Given the description of an element on the screen output the (x, y) to click on. 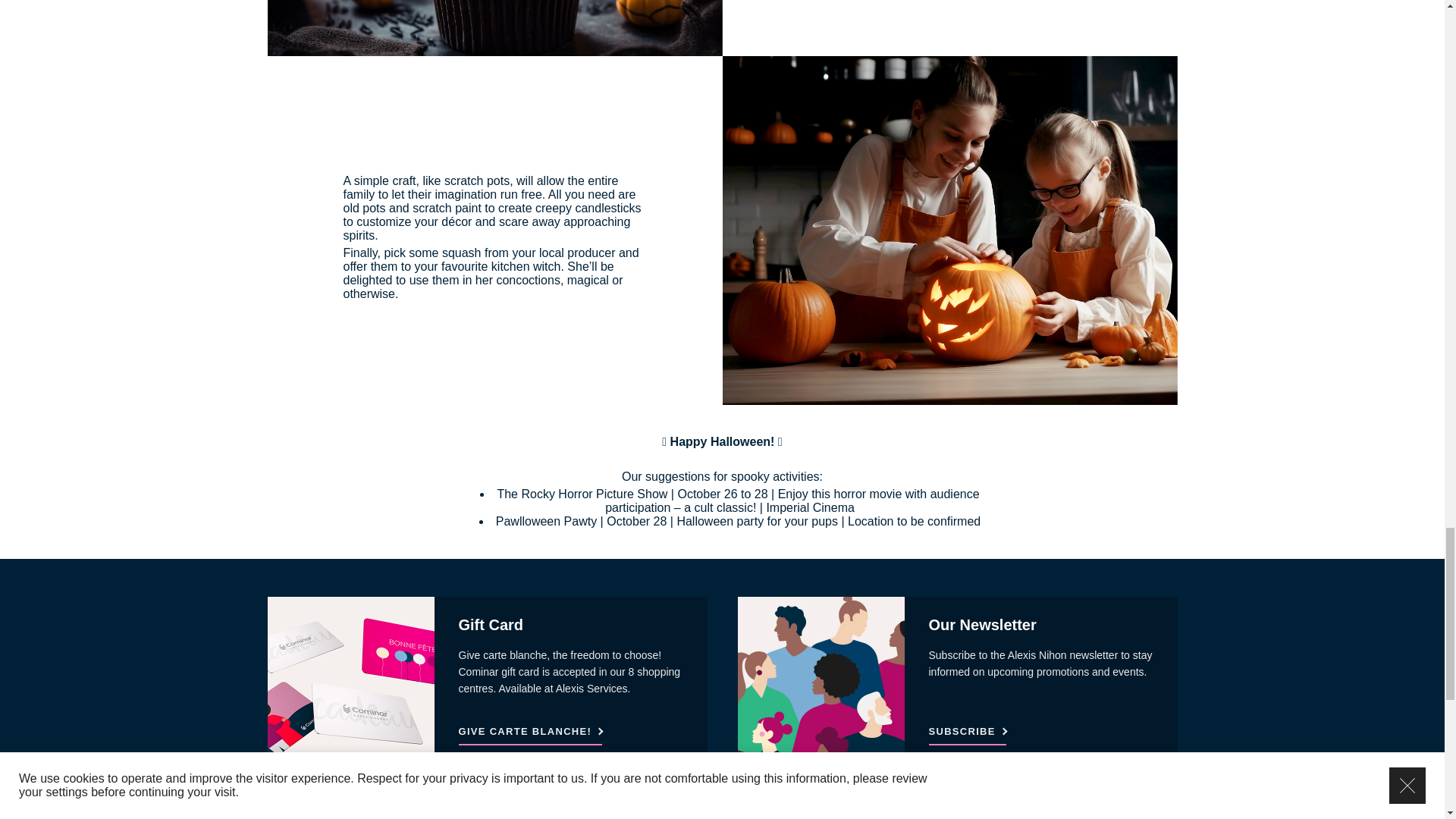
Pawlloween Pawty (546, 521)
GIVE CARTE BLANCHE! (530, 734)
SUBSCRIBE (967, 734)
The Rocky Horror Picture Show (581, 494)
